Given the description of an element on the screen output the (x, y) to click on. 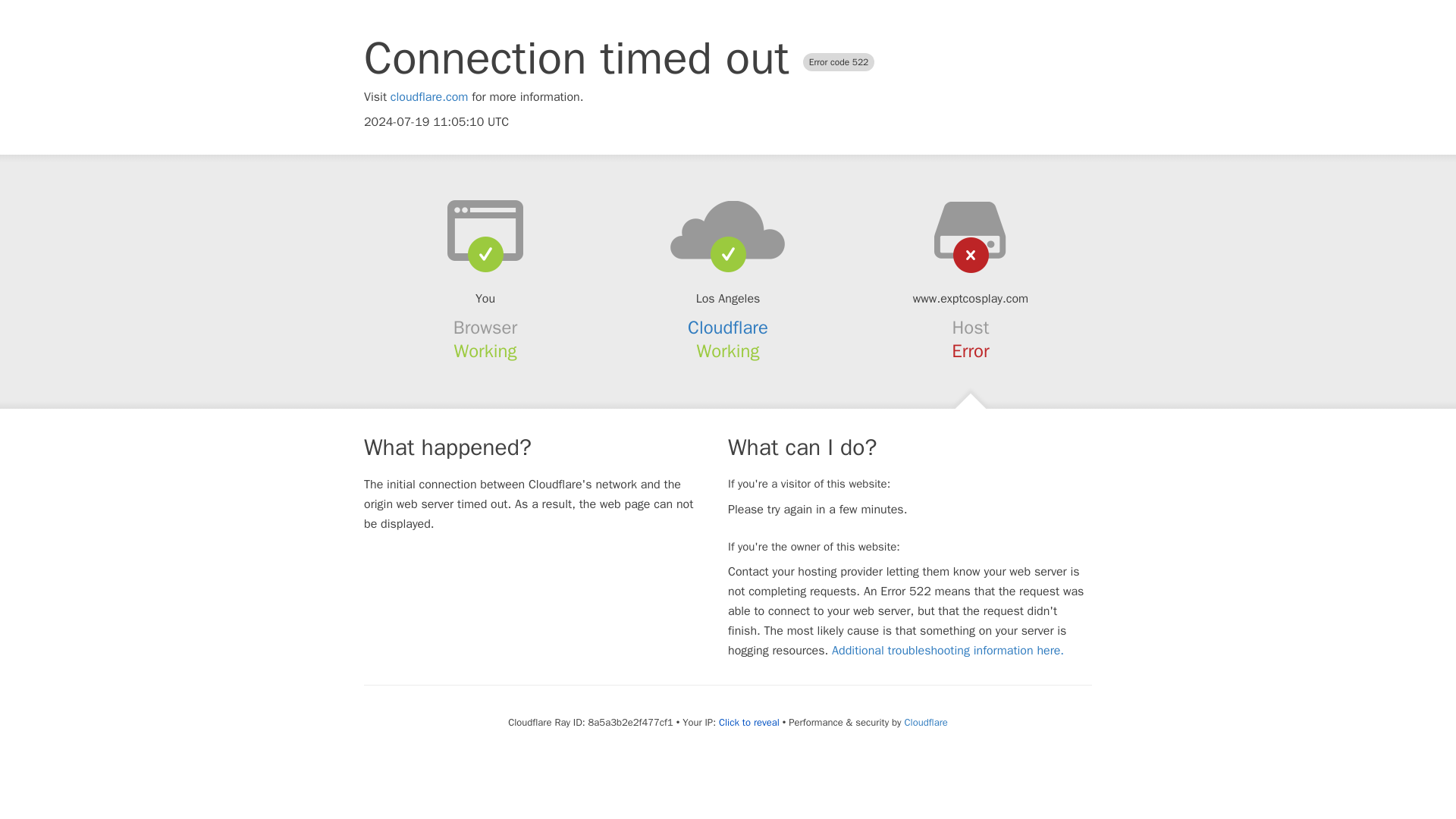
Click to reveal (748, 722)
Cloudflare (925, 721)
Cloudflare (727, 327)
Additional troubleshooting information here. (947, 650)
cloudflare.com (429, 96)
